Given the description of an element on the screen output the (x, y) to click on. 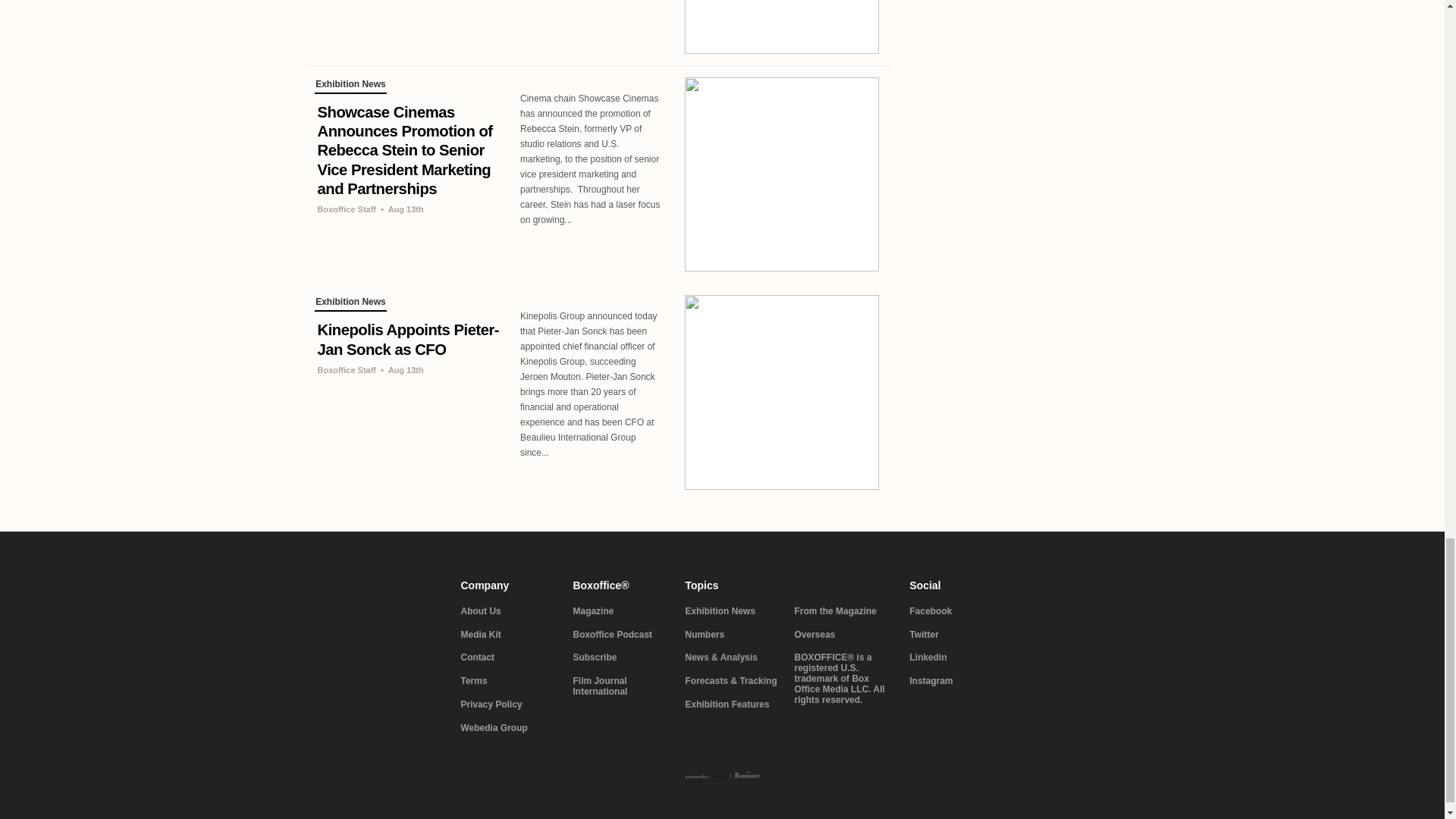
Magazine (620, 611)
Media Kit (508, 634)
About Us (508, 611)
Boxoffice Podcast (620, 634)
Terms (508, 681)
Privacy Policy (508, 705)
Webedia Group (508, 728)
Exhibition News (349, 86)
Exhibition News (349, 304)
Contact (508, 657)
